Given the description of an element on the screen output the (x, y) to click on. 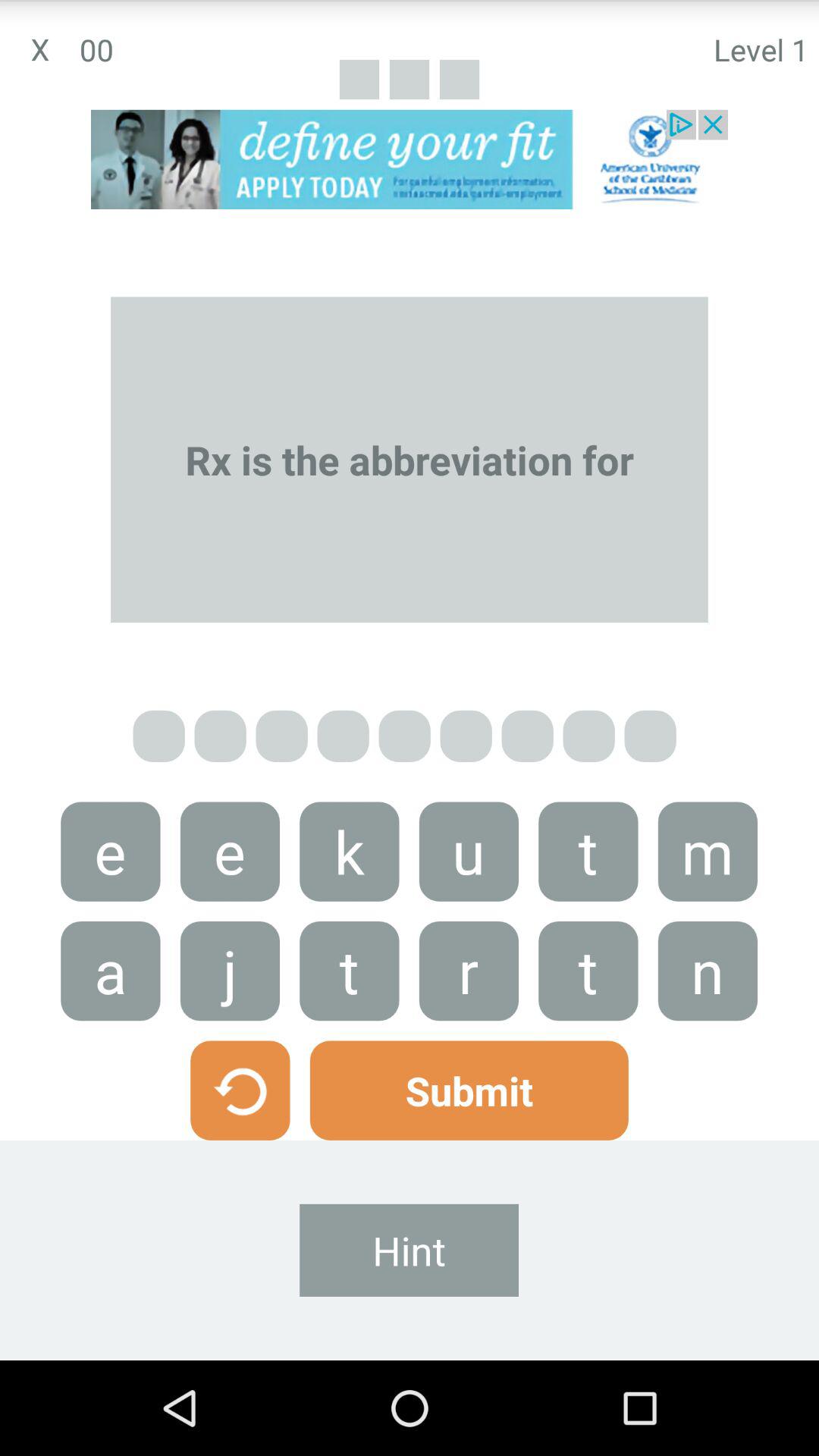
erase the previous letter (240, 1090)
